Given the description of an element on the screen output the (x, y) to click on. 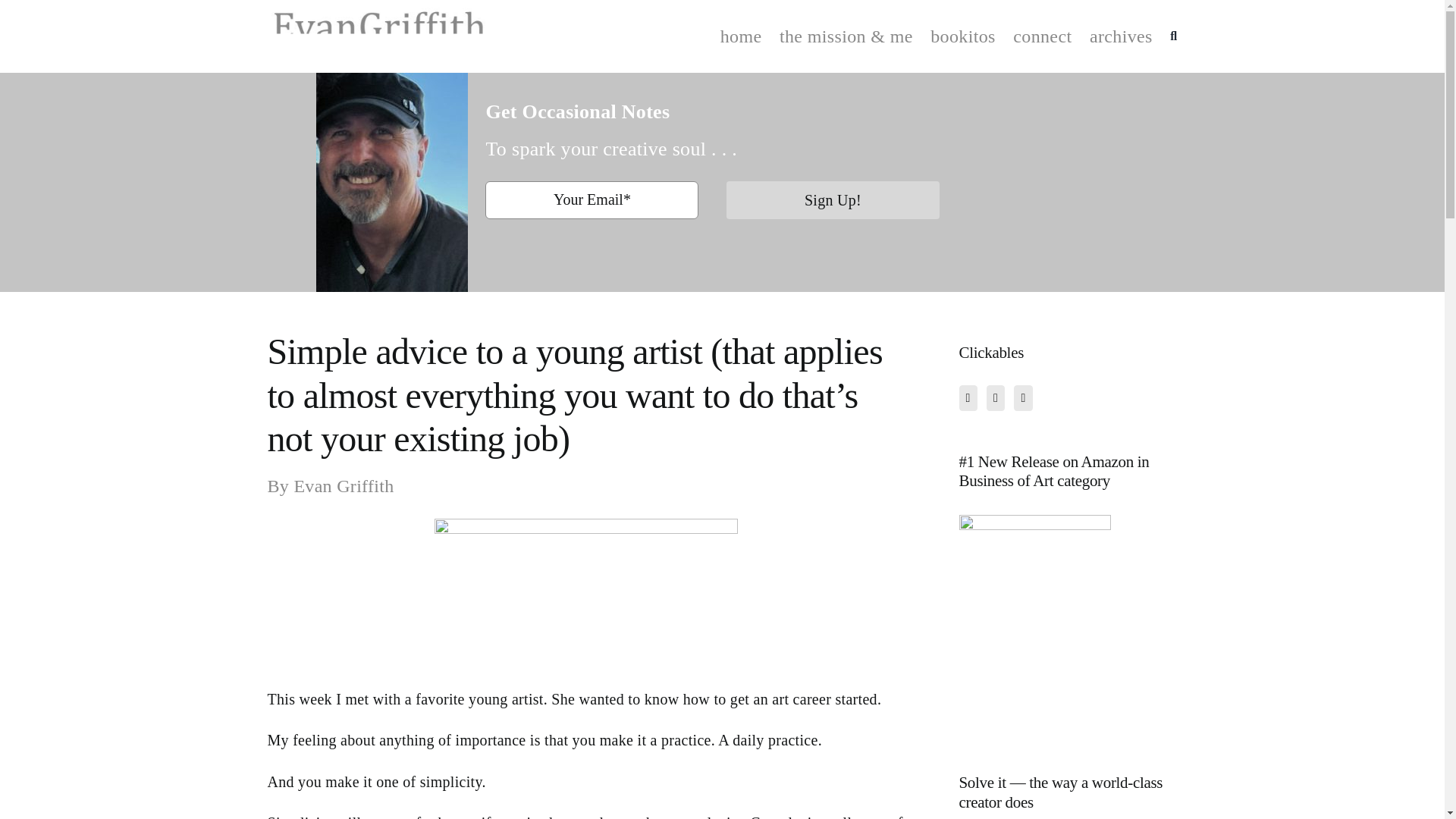
bookitos (962, 36)
Sign Up! (832, 199)
Sign Up! (831, 208)
Posts by Evan Griffith (343, 485)
Evan Griffith (343, 485)
